Given the description of an element on the screen output the (x, y) to click on. 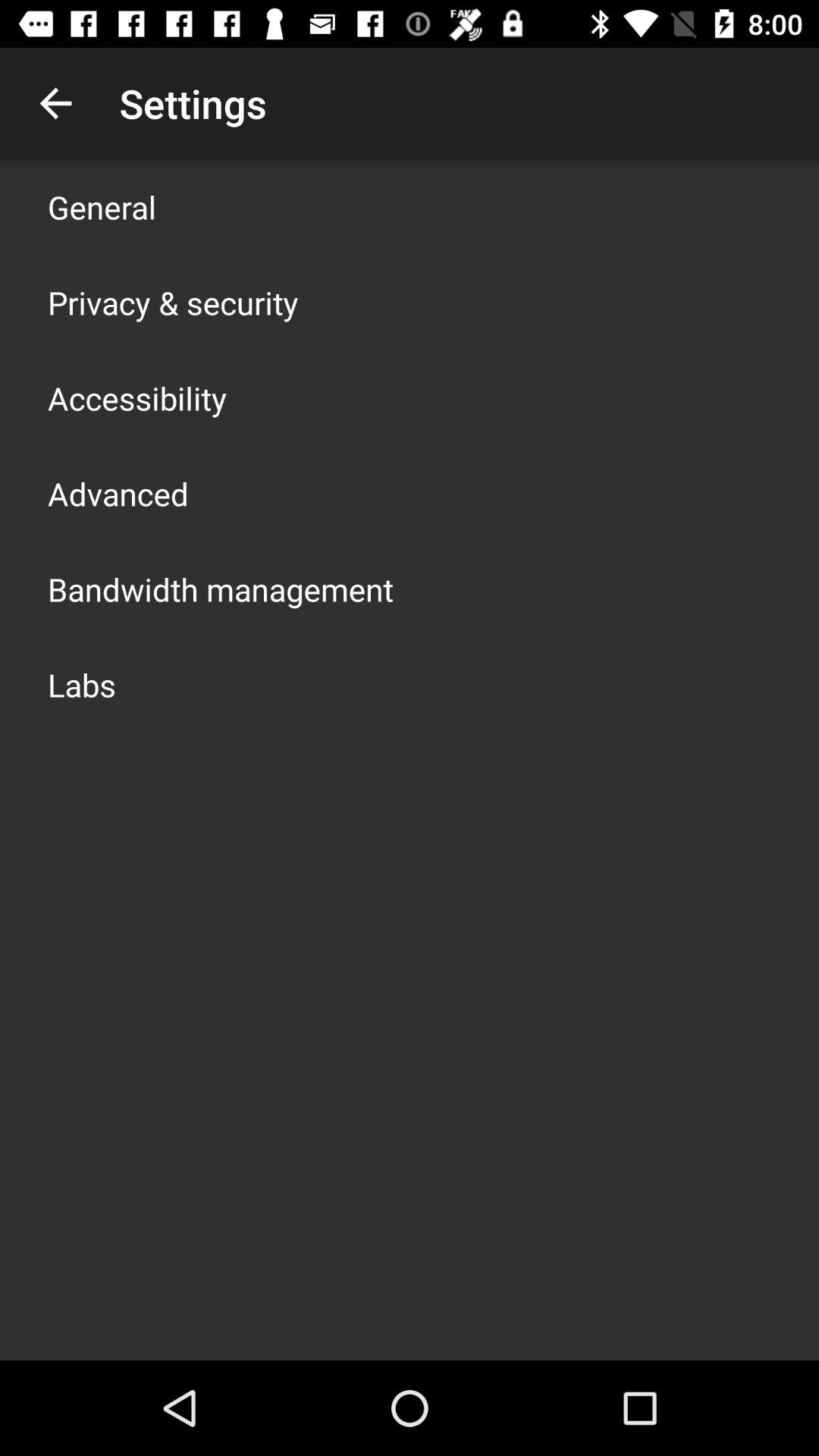
swipe until the advanced app (117, 493)
